Given the description of an element on the screen output the (x, y) to click on. 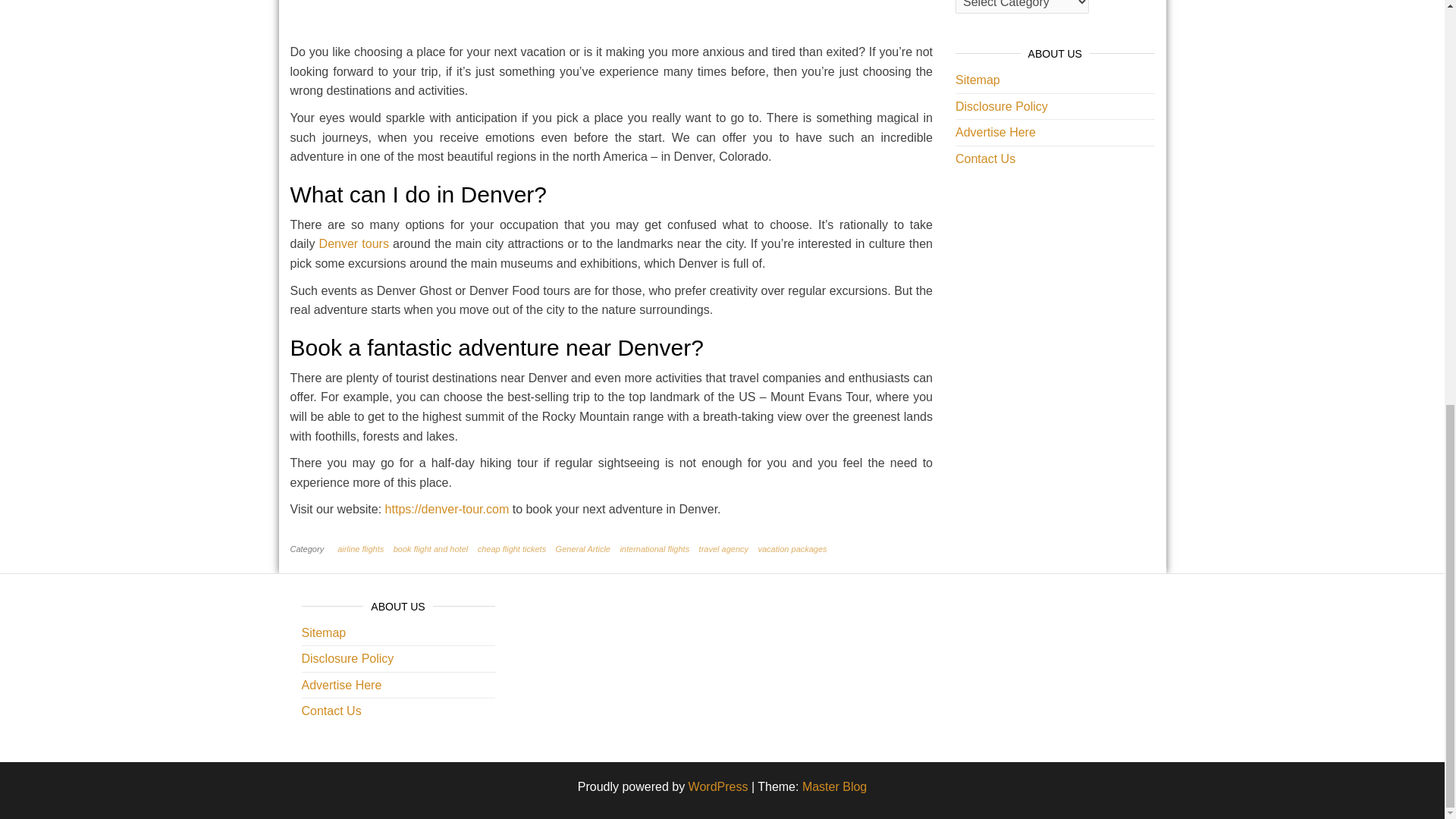
General Article (585, 548)
book flight and hotel (433, 548)
international flights (657, 548)
travel agency (726, 548)
vacation packages (794, 548)
cheap flight tickets (515, 548)
airline flights (363, 548)
Denver tours (353, 243)
